Given the description of an element on the screen output the (x, y) to click on. 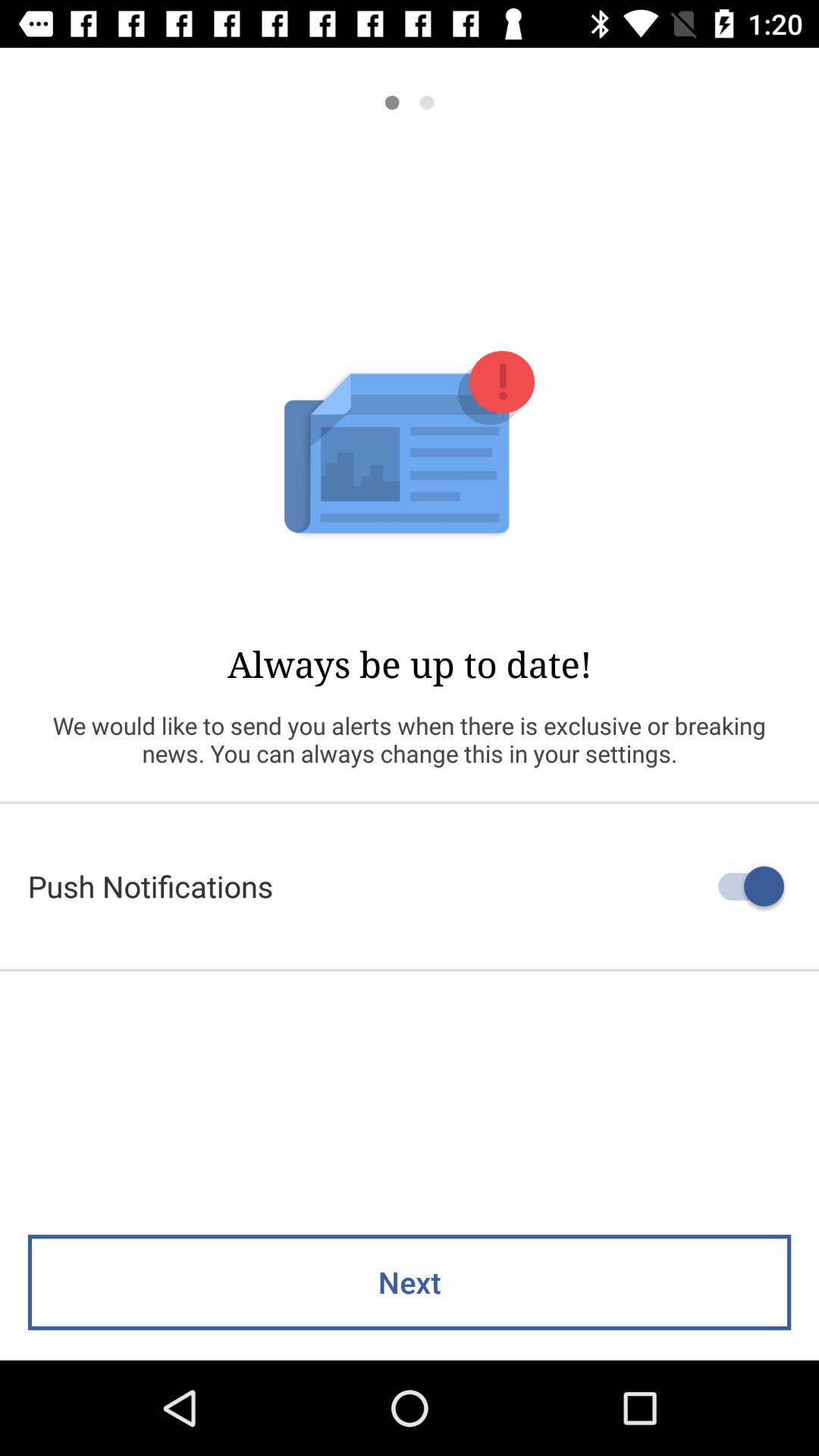
turn off next item (409, 1282)
